Given the description of an element on the screen output the (x, y) to click on. 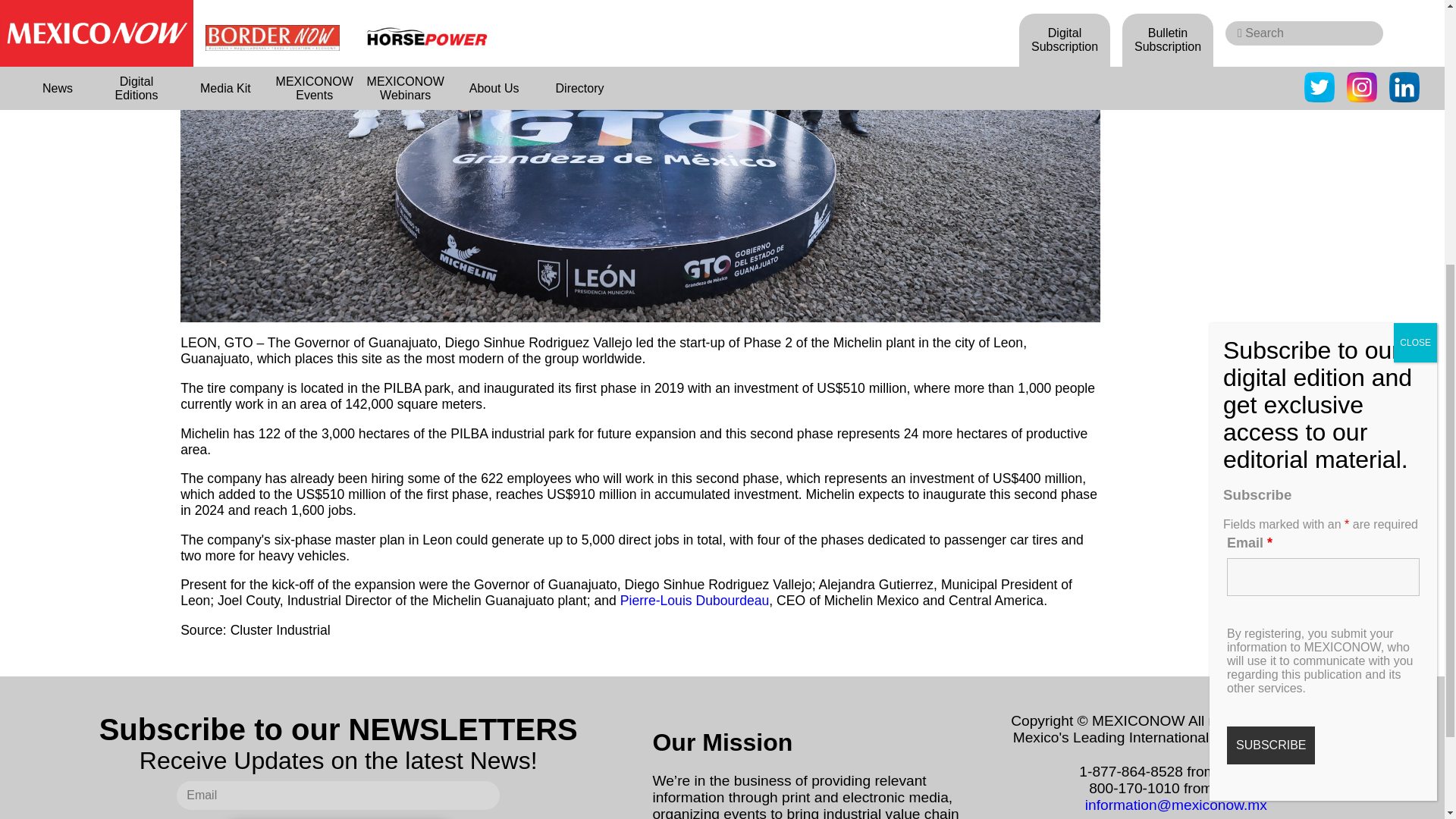
Pierre-Louis Dubourdeau (691, 600)
SUBSCRIBE (1270, 304)
